Given the description of an element on the screen output the (x, y) to click on. 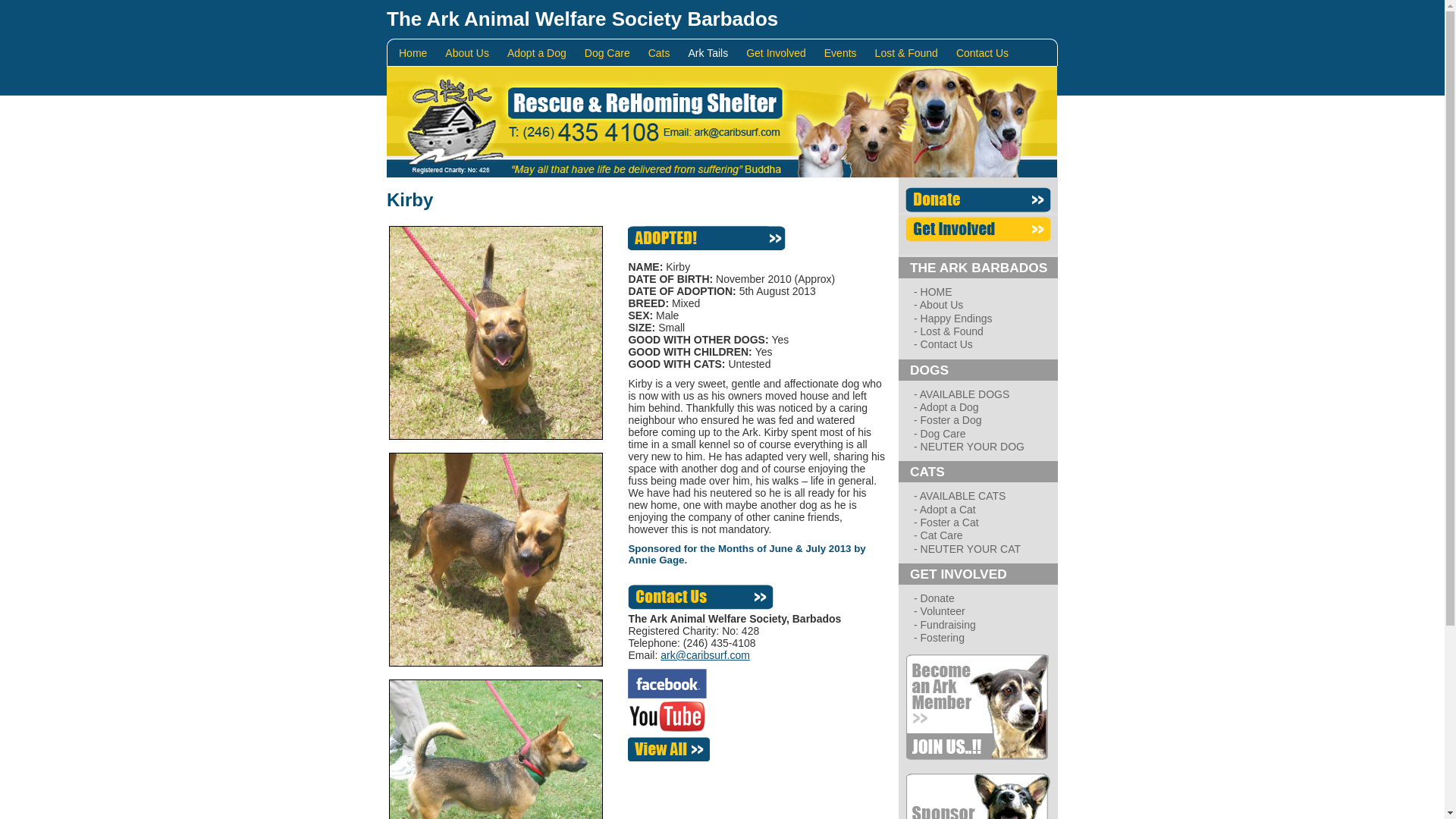
Get Involved (780, 53)
Events (845, 53)
Permalink (409, 199)
Contact Us (987, 53)
Adopt a Dog (541, 53)
Dog Care (612, 53)
Please Adopt Me - URGENT (707, 238)
The Ark Animal Welfare Society Barbados (582, 18)
Home (418, 53)
Kirby (409, 199)
About Us (472, 53)
The Ark Animal Welfare Society Barbados (582, 18)
Cats (664, 53)
Ark Tails (713, 53)
The Ark Animal Welfare Society, Barbados (703, 591)
